Given the description of an element on the screen output the (x, y) to click on. 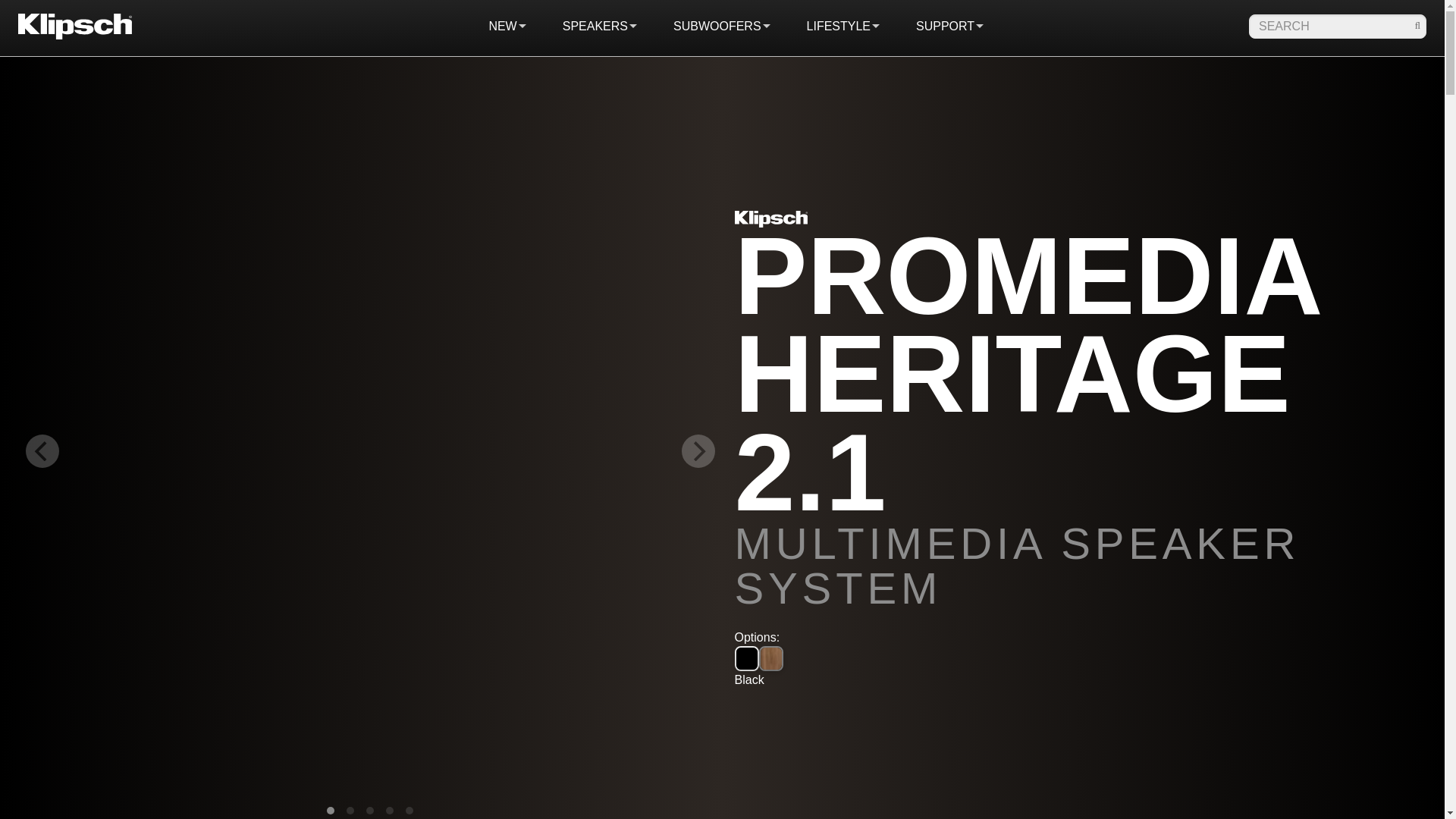
Walnut (770, 658)
Black (746, 658)
